Given the description of an element on the screen output the (x, y) to click on. 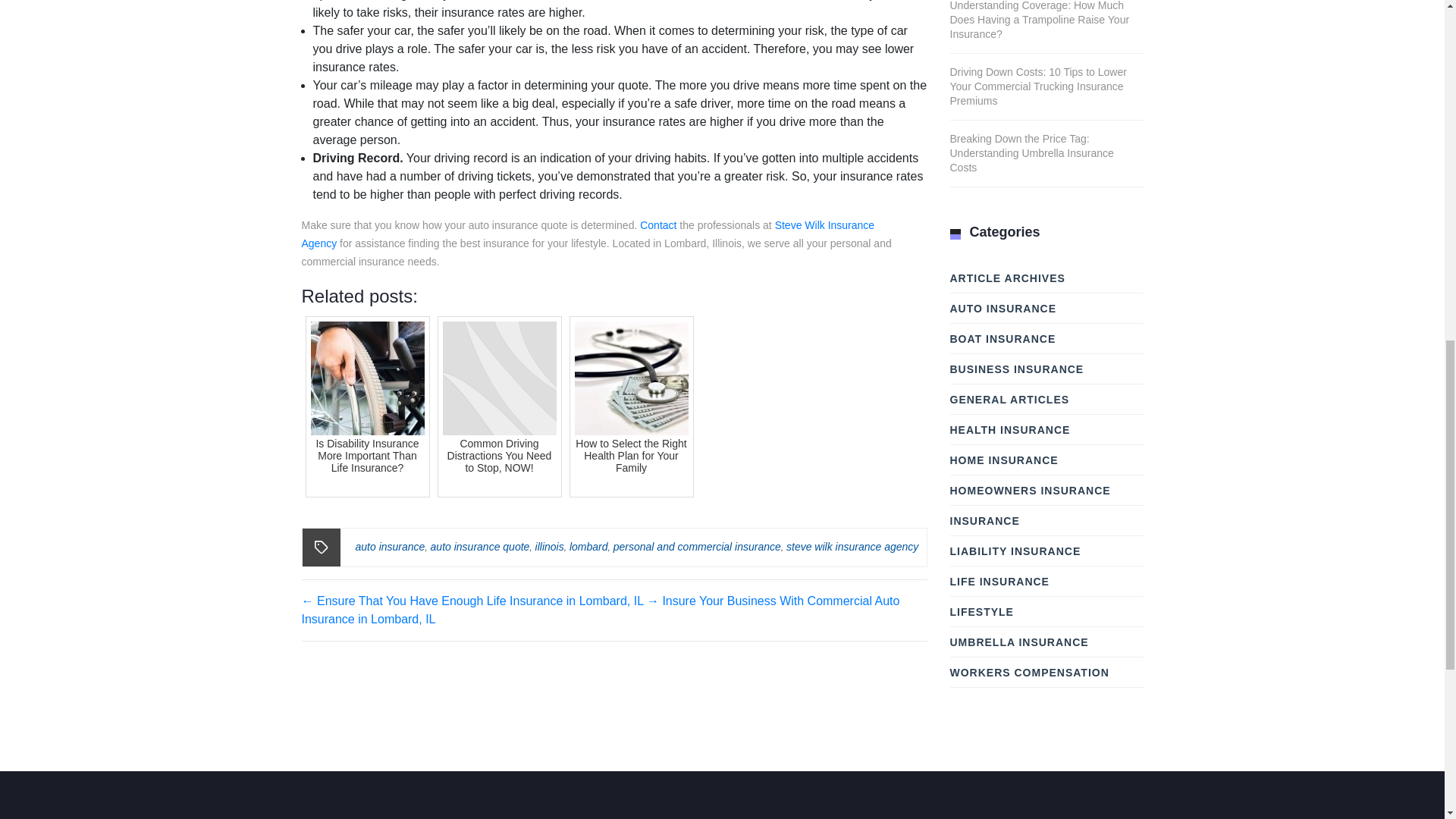
How to Select the Right Health Plan for Your Family (631, 406)
Steve Wilk Insurance Agency (588, 234)
auto insurance (390, 546)
Is Disability Insurance More Important Than Life Insurance? (366, 406)
lombard (588, 546)
personal and commercial insurance (696, 546)
Common Driving Distractions You Need to Stop, NOW! (498, 406)
illinois (549, 546)
auto insurance quote (479, 546)
steve wilk insurance agency (852, 546)
Contact (658, 224)
